Given the description of an element on the screen output the (x, y) to click on. 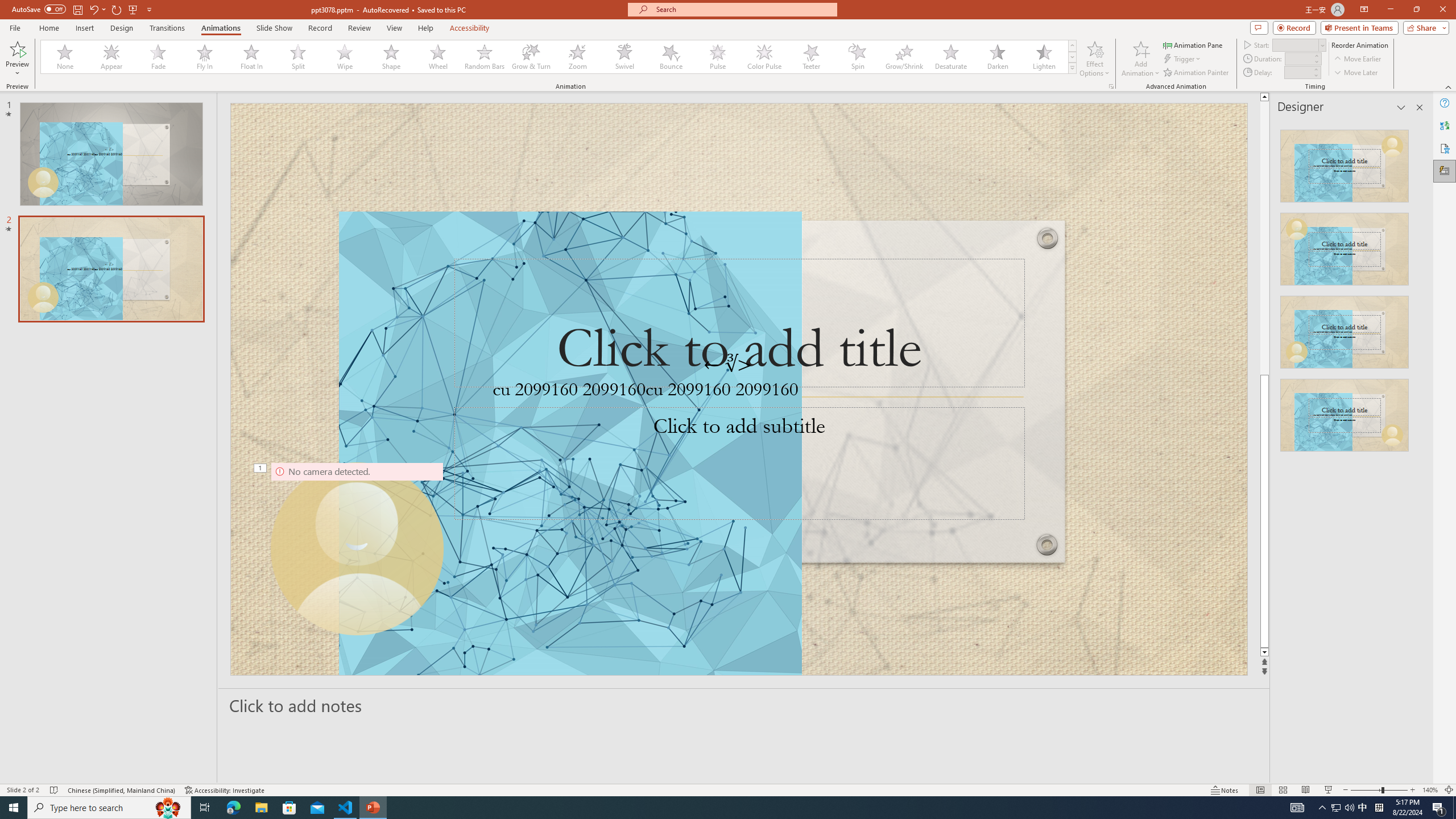
Add Animation (1141, 58)
Wheel (437, 56)
Spin (857, 56)
Bounce (670, 56)
An abstract genetic concept (739, 388)
